Given the description of an element on the screen output the (x, y) to click on. 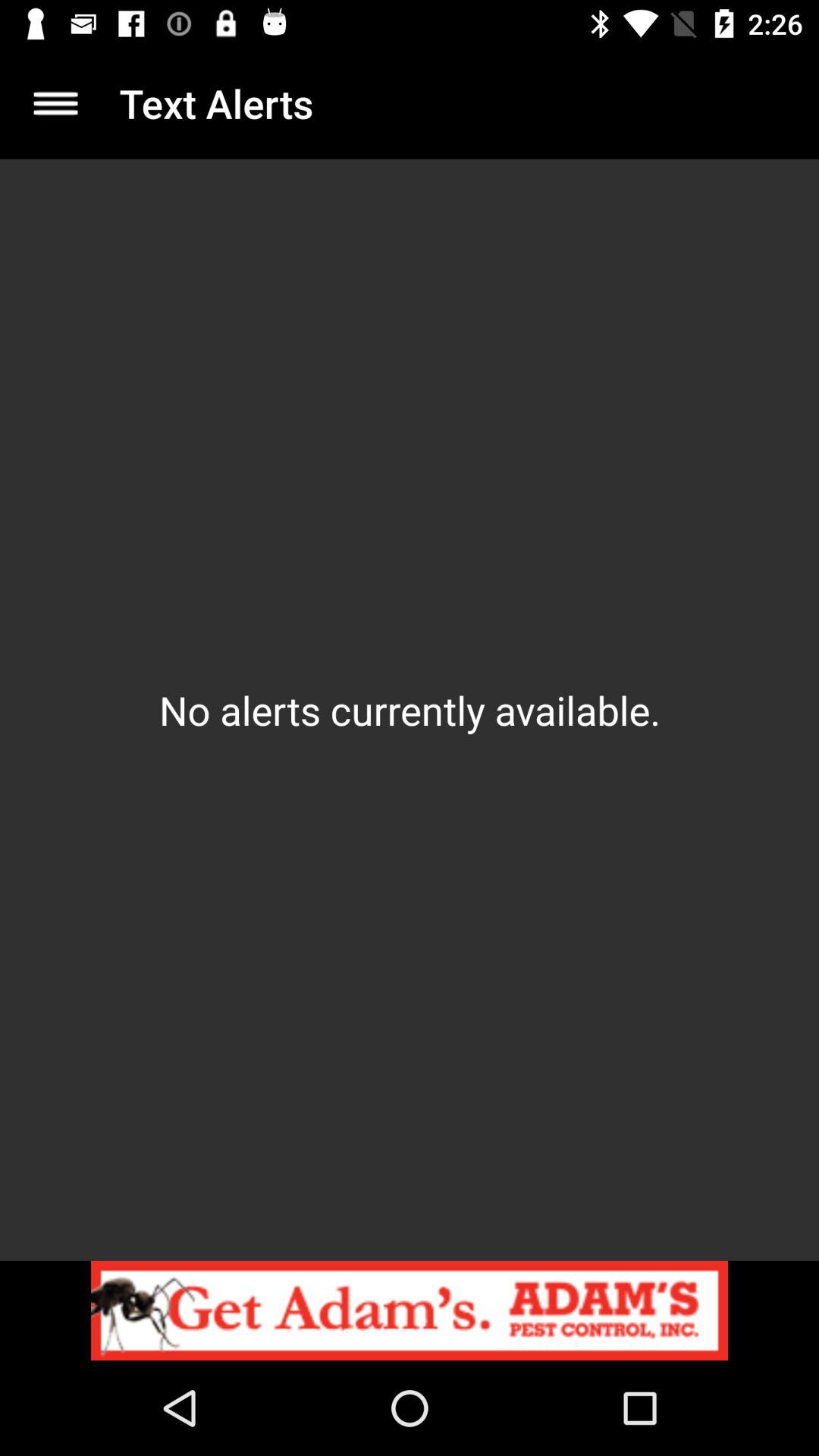
launch the icon below the no alerts currently icon (409, 1310)
